Given the description of an element on the screen output the (x, y) to click on. 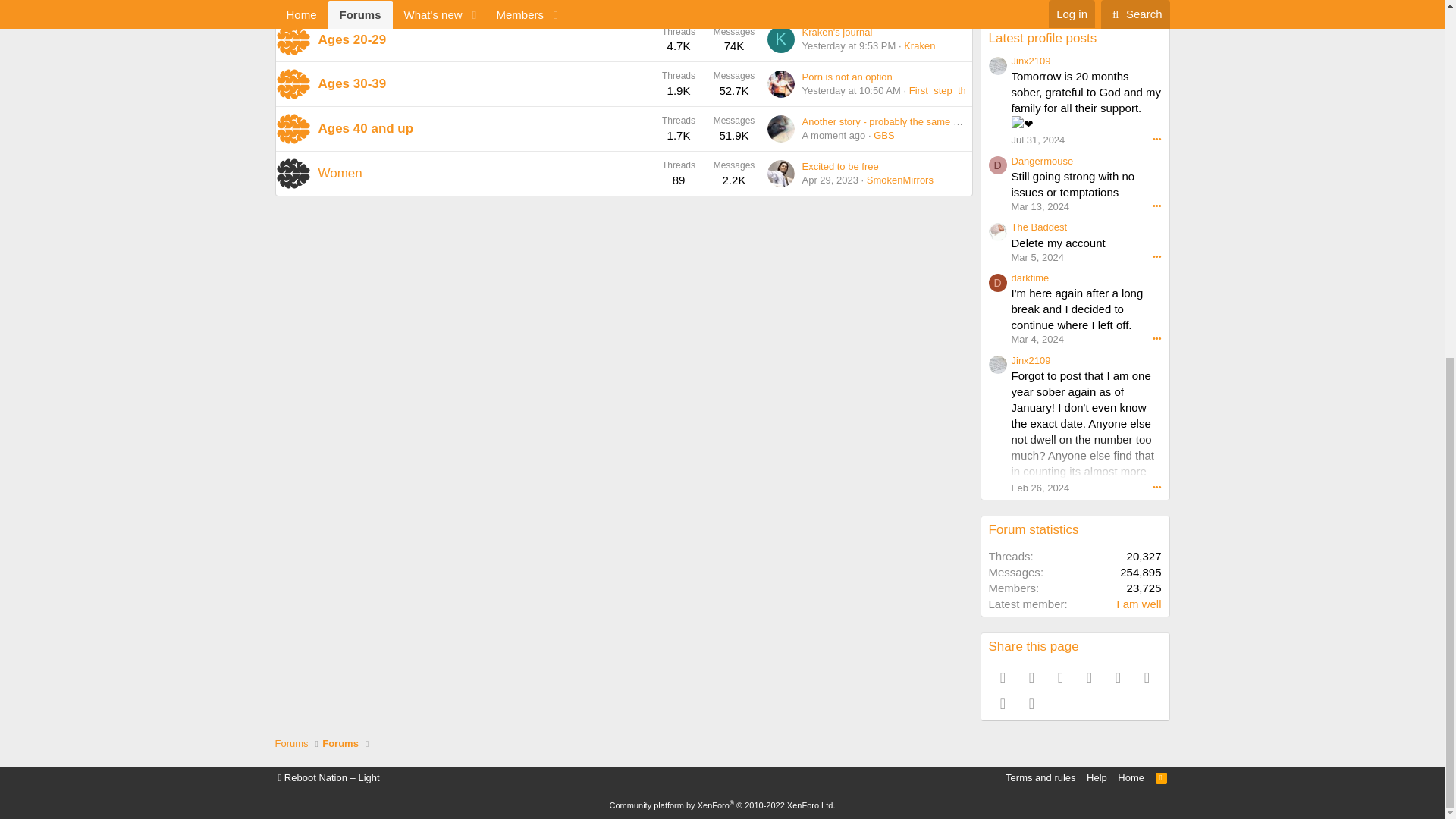
Aug 14, 2024 at 9:53 PM (849, 45)
Kraken's journal (837, 31)
Jul 14, 2024 at 8:17 AM (829, 3)
Porn is not an option (847, 76)
